Given the description of an element on the screen output the (x, y) to click on. 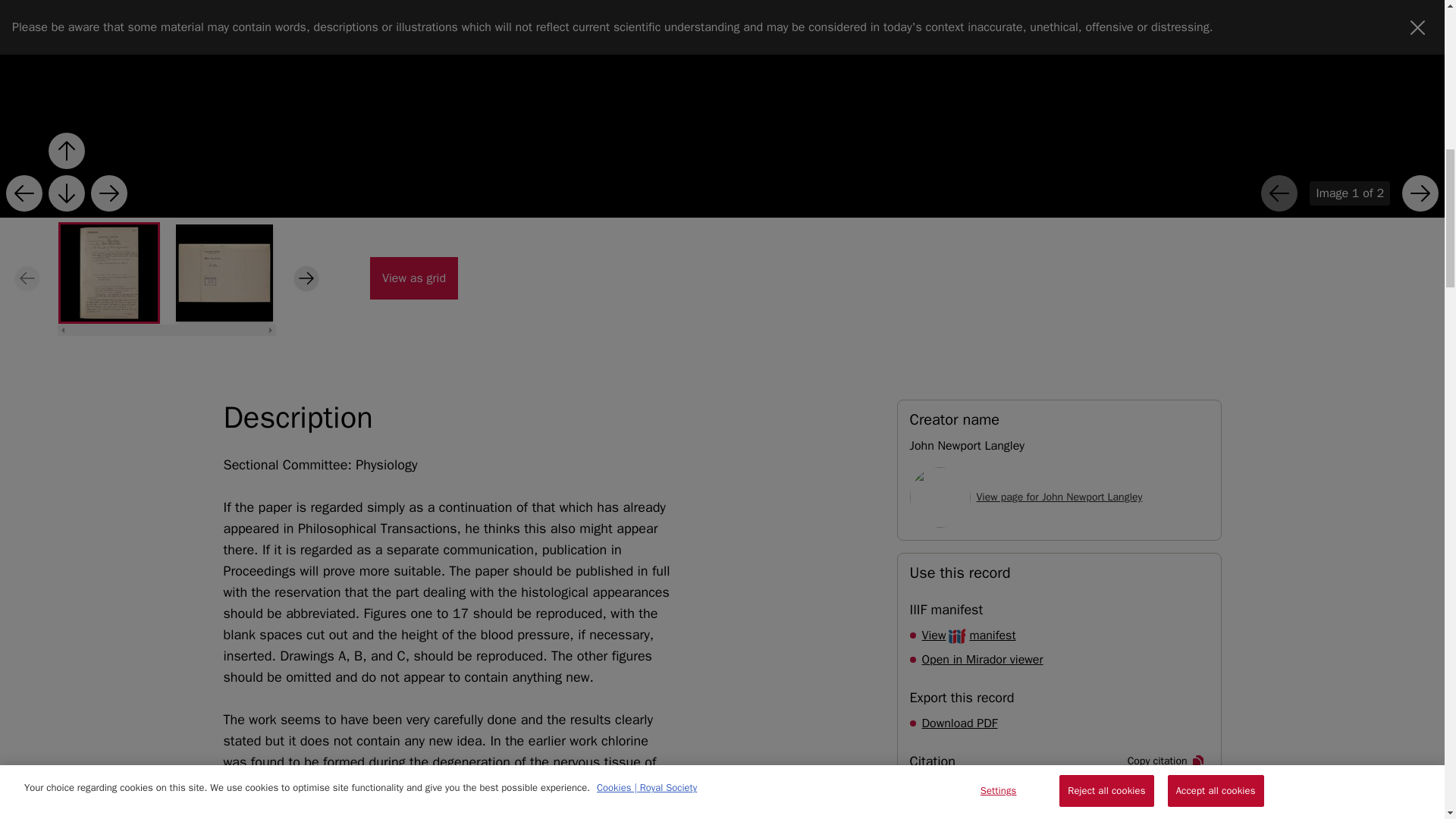
Pan right (109, 193)
Pan right (959, 723)
Pan up (109, 193)
View as grid (968, 635)
Next image (66, 150)
Next image (413, 278)
